Given the description of an element on the screen output the (x, y) to click on. 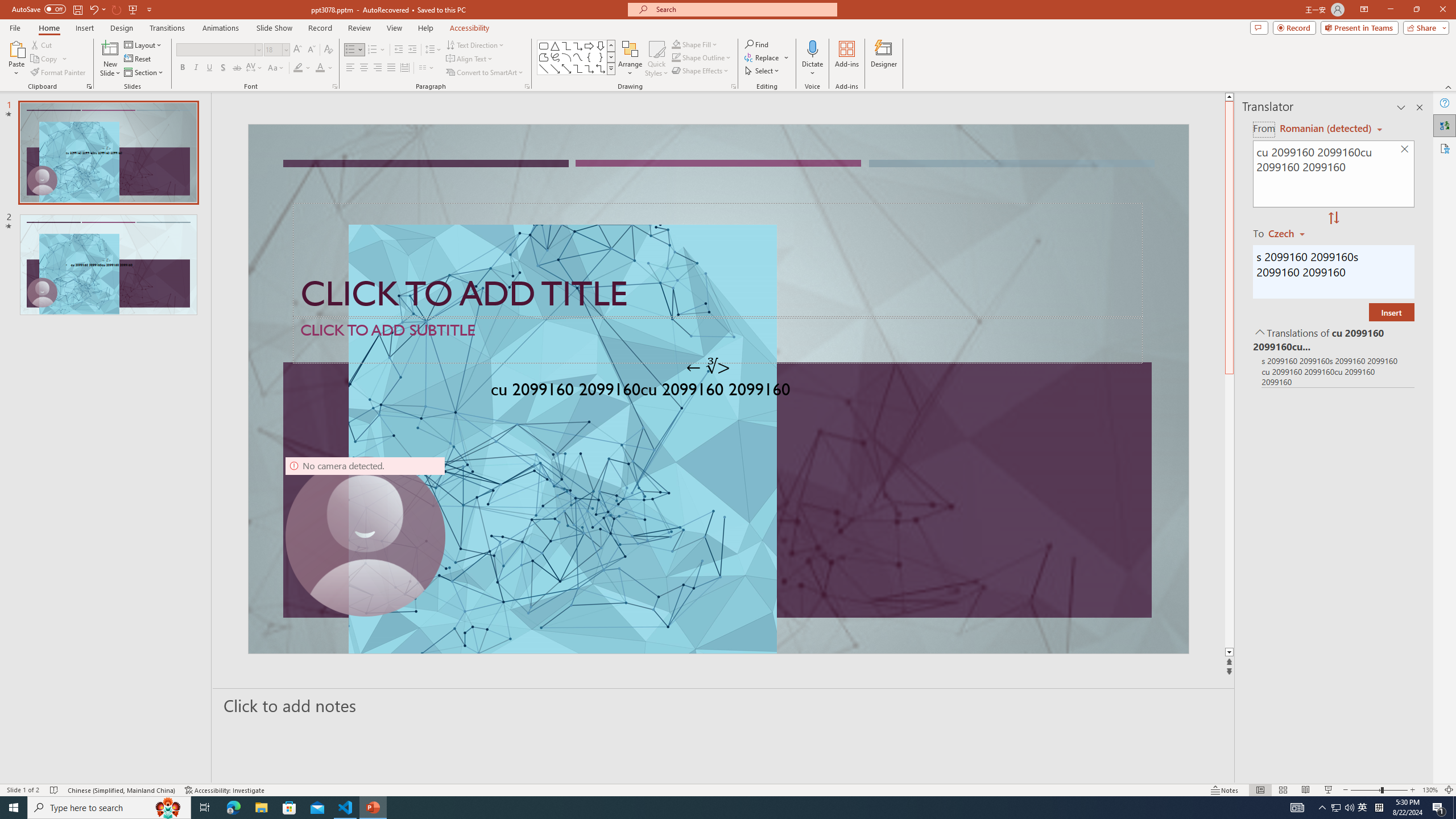
Numbering (372, 49)
Connector: Elbow Double-Arrow (600, 68)
Replace... (767, 56)
Class: MsoCommandBar (728, 789)
Shape Outline Green, Accent 1 (675, 56)
Shadow (223, 67)
Rectangle: Rounded Corners (543, 45)
Dictate (812, 58)
Dictate (812, 48)
Increase Font Size (297, 49)
